Given the description of an element on the screen output the (x, y) to click on. 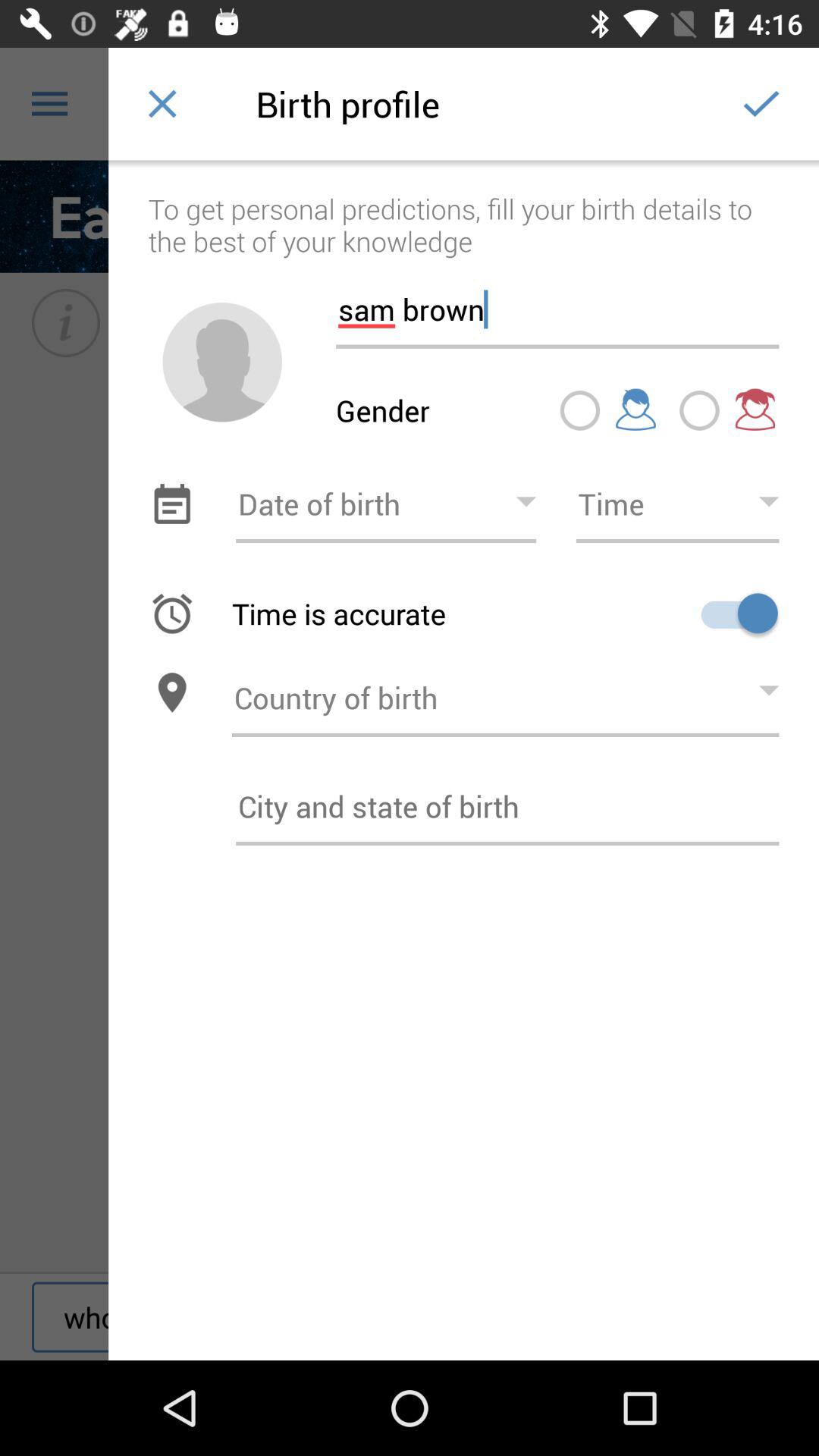
gender (222, 362)
